Given the description of an element on the screen output the (x, y) to click on. 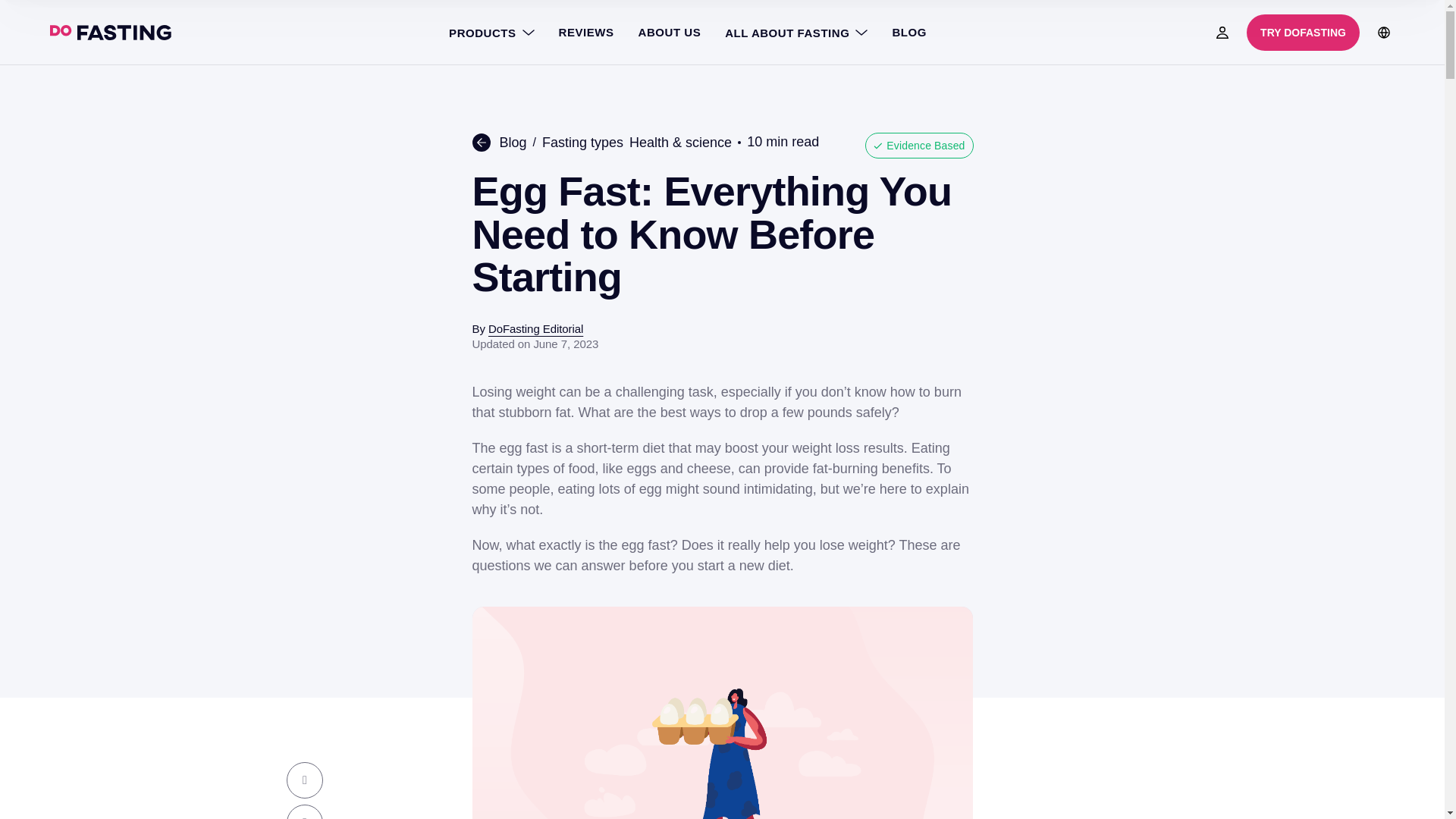
REVIEWS (586, 31)
ABOUT US (669, 31)
TRY DOFASTING (1302, 32)
ALL ABOUT FASTING (796, 32)
BLOG (909, 31)
PRODUCTS (491, 32)
